Given the description of an element on the screen output the (x, y) to click on. 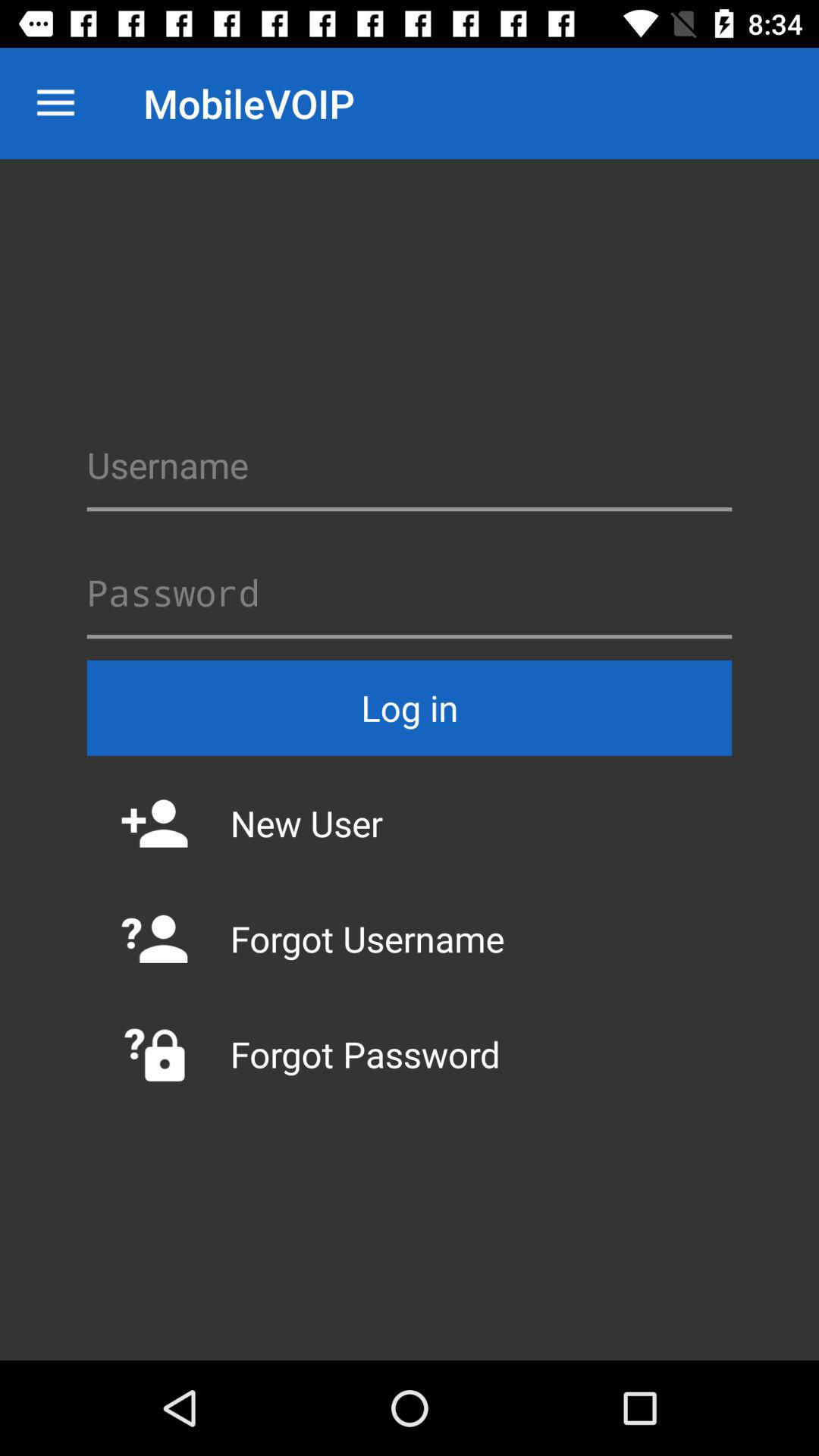
turn on icon below the new user item (409, 938)
